Given the description of an element on the screen output the (x, y) to click on. 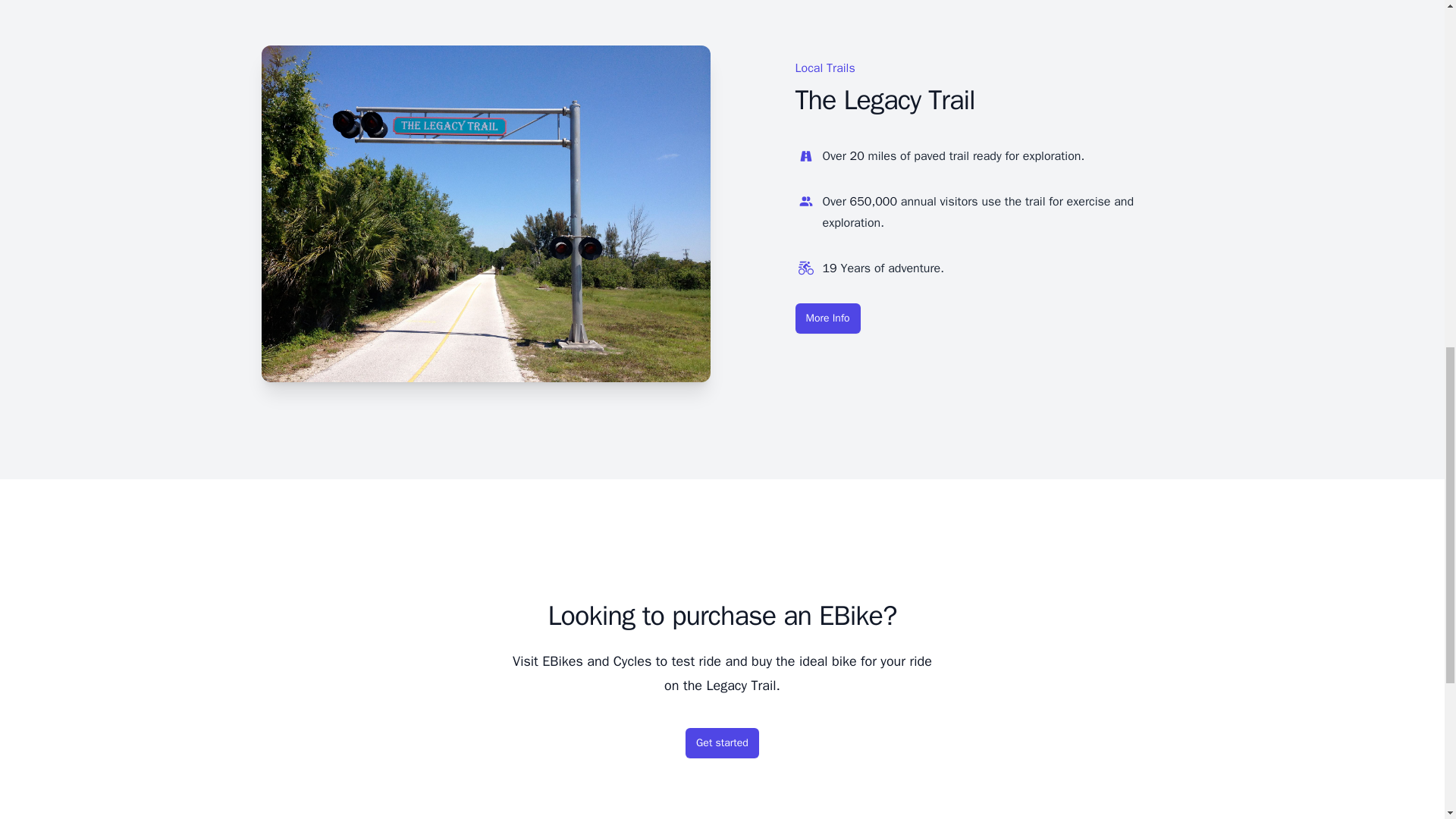
Get started (721, 743)
More Info (827, 318)
The Legacy Trail Sarasota (827, 318)
